Given the description of an element on the screen output the (x, y) to click on. 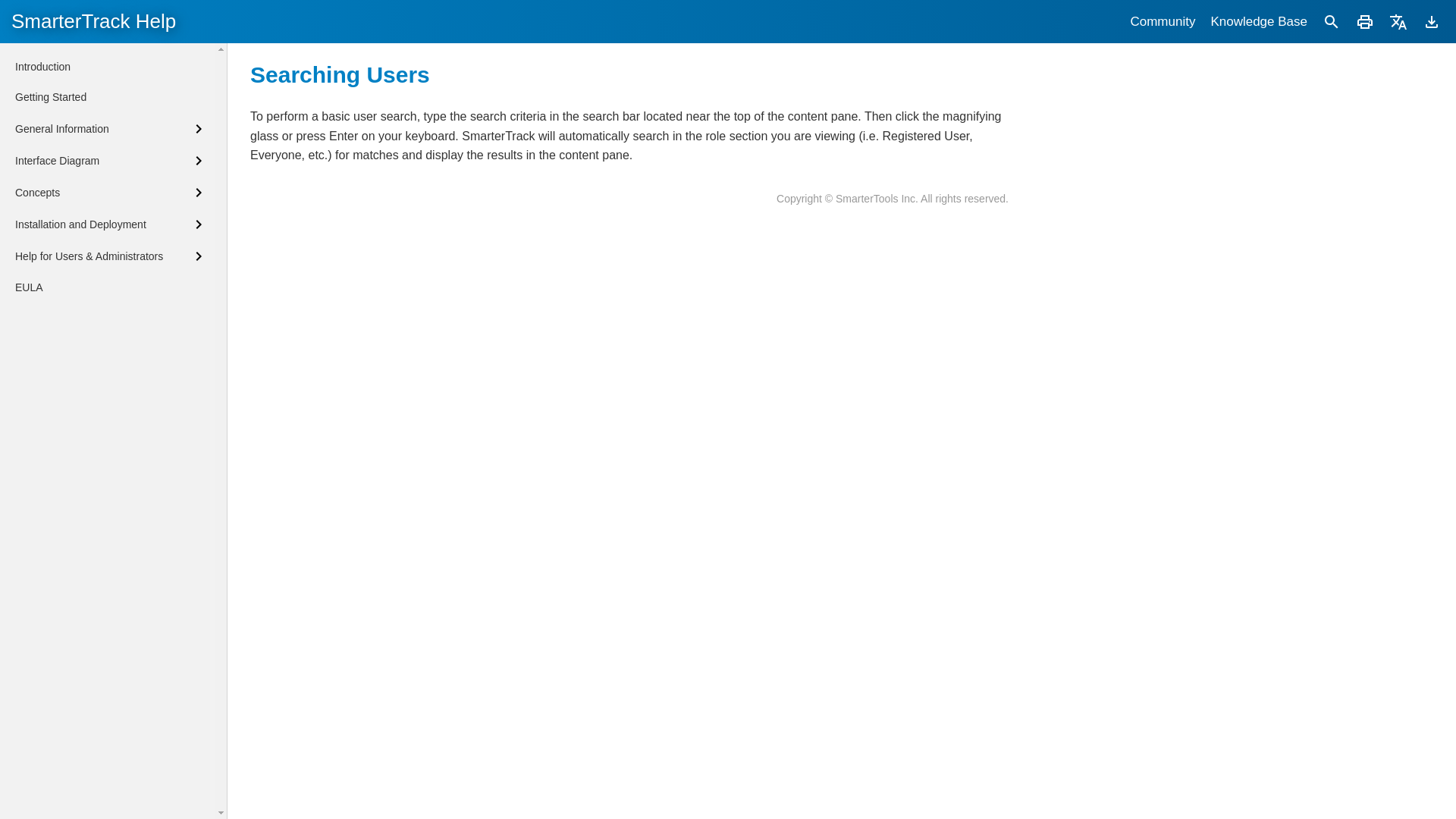
Interface Diagram (111, 160)
SmarterTrack Help (93, 21)
Getting Started (49, 97)
Knowledge Base (1258, 21)
Community (1162, 21)
General Information (111, 128)
Introduction (41, 66)
Installation and Deployment (111, 224)
Concepts (111, 192)
